Given the description of an element on the screen output the (x, y) to click on. 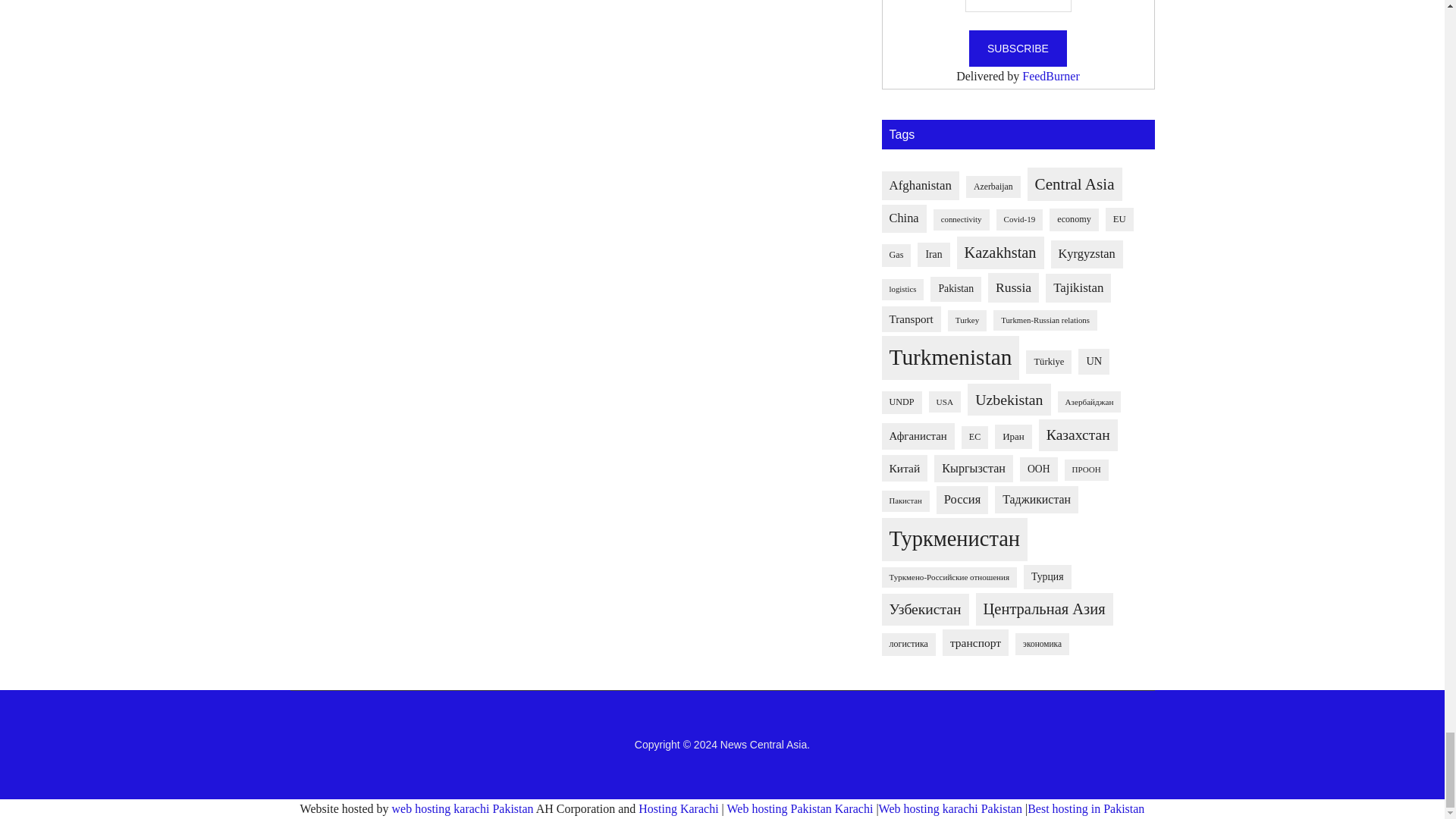
Subscribe (1018, 48)
